Given the description of an element on the screen output the (x, y) to click on. 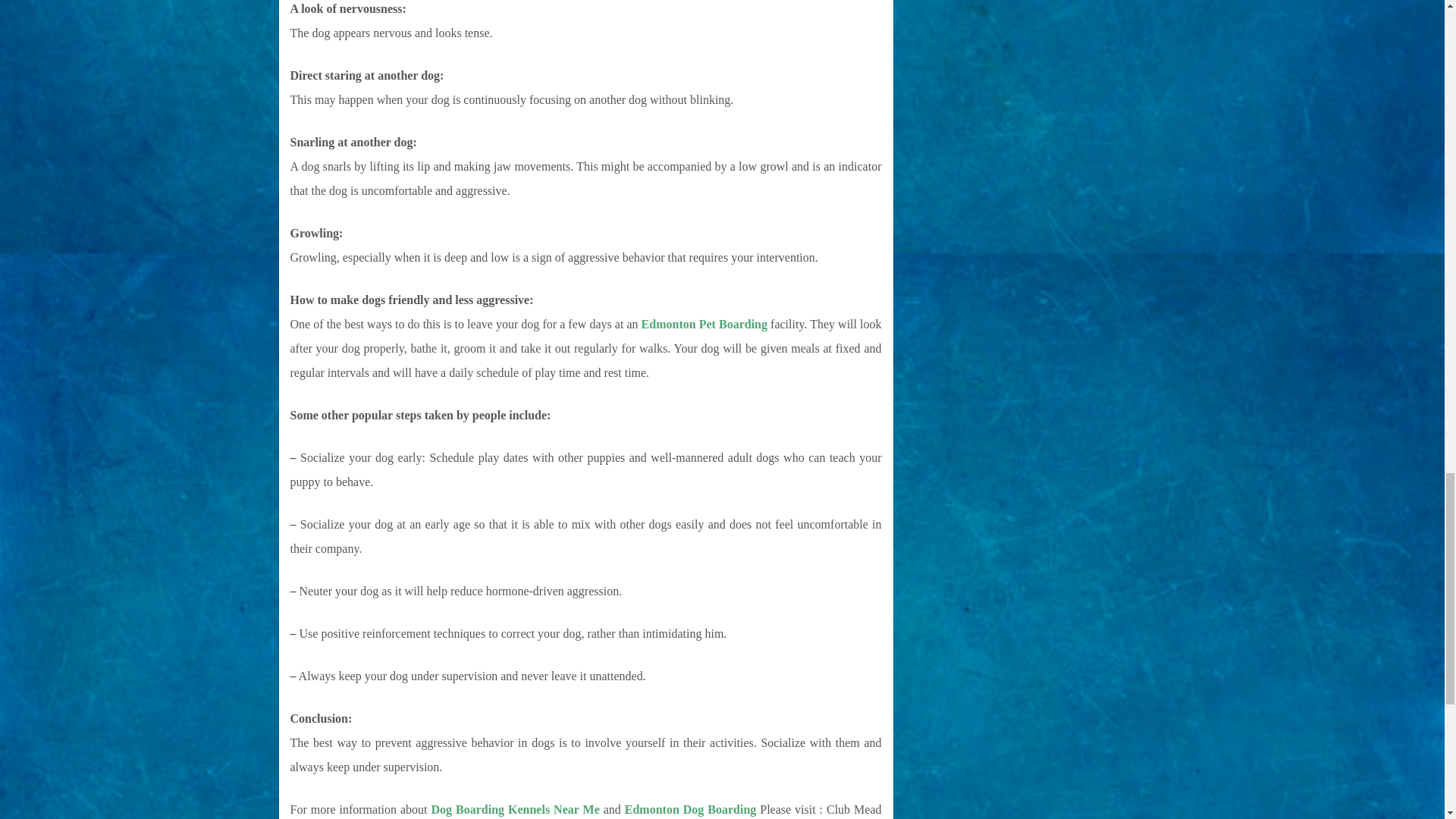
Edmonton Pet Boarding (704, 323)
Edmonton Dog Boarding (690, 809)
Dog Boarding Kennels Near Me (514, 809)
